Given the description of an element on the screen output the (x, y) to click on. 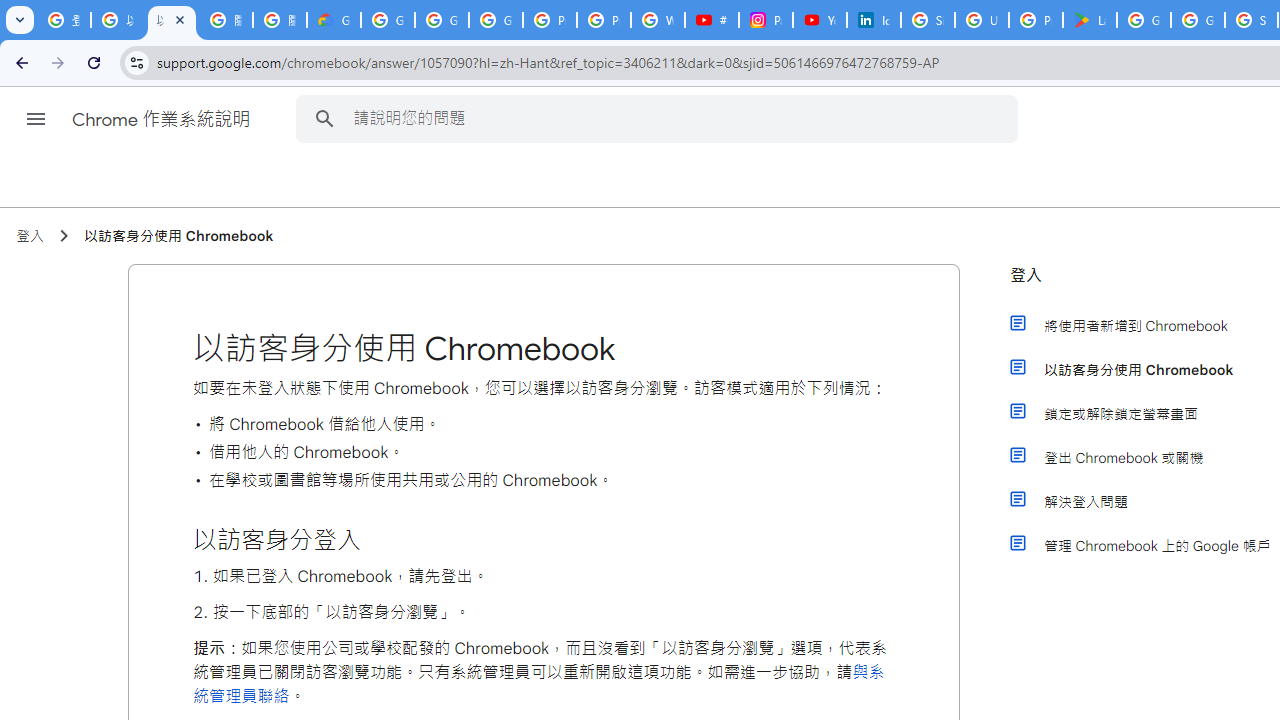
Google Workspace - Specific Terms (1197, 20)
Privacy Help Center - Policies Help (604, 20)
Last Shelter: Survival - Apps on Google Play (1089, 20)
#nbabasketballhighlights - YouTube (711, 20)
